Given the description of an element on the screen output the (x, y) to click on. 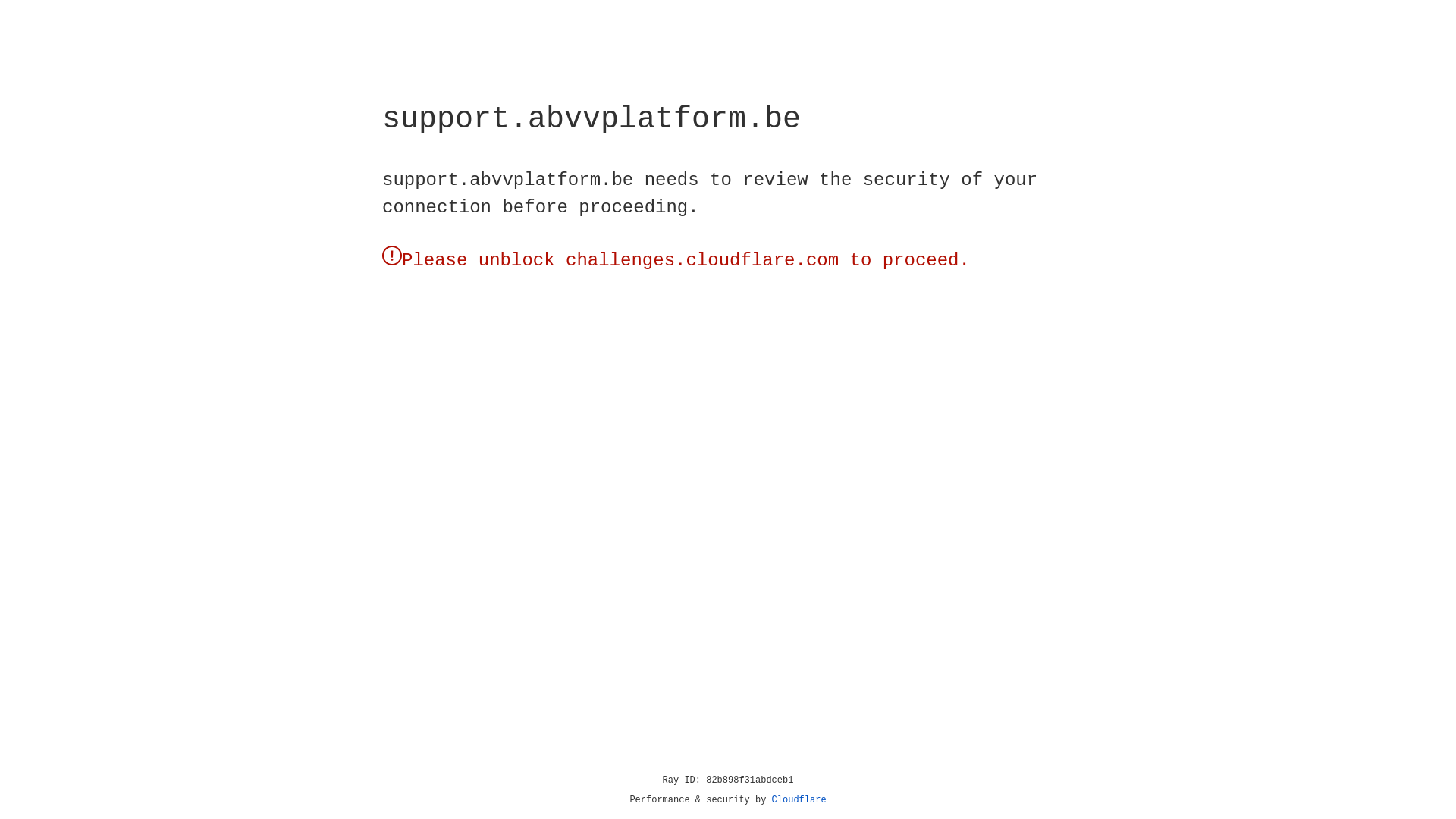
Cloudflare Element type: text (798, 799)
